Given the description of an element on the screen output the (x, y) to click on. 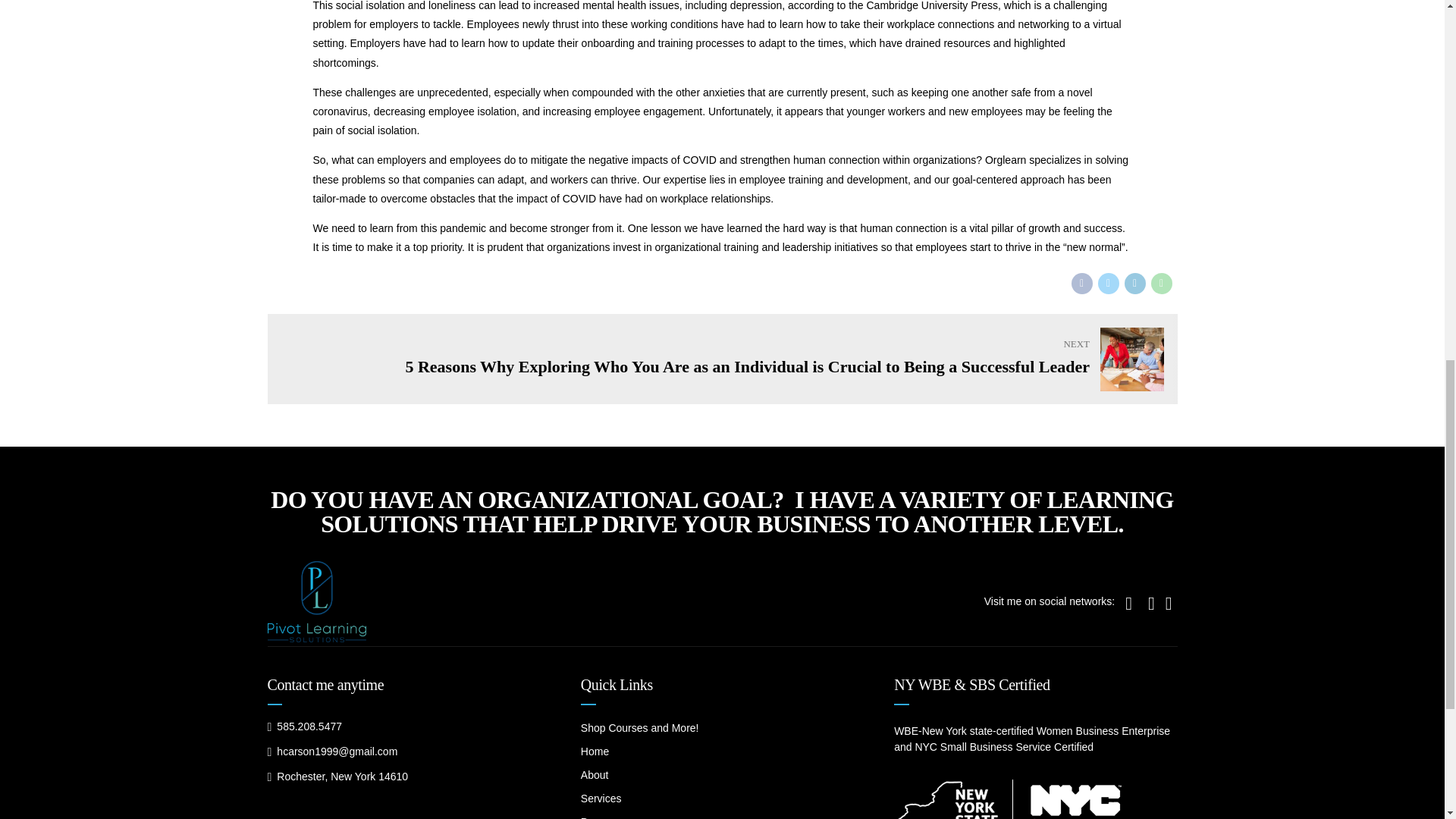
PL main trans (315, 601)
